Given the description of an element on the screen output the (x, y) to click on. 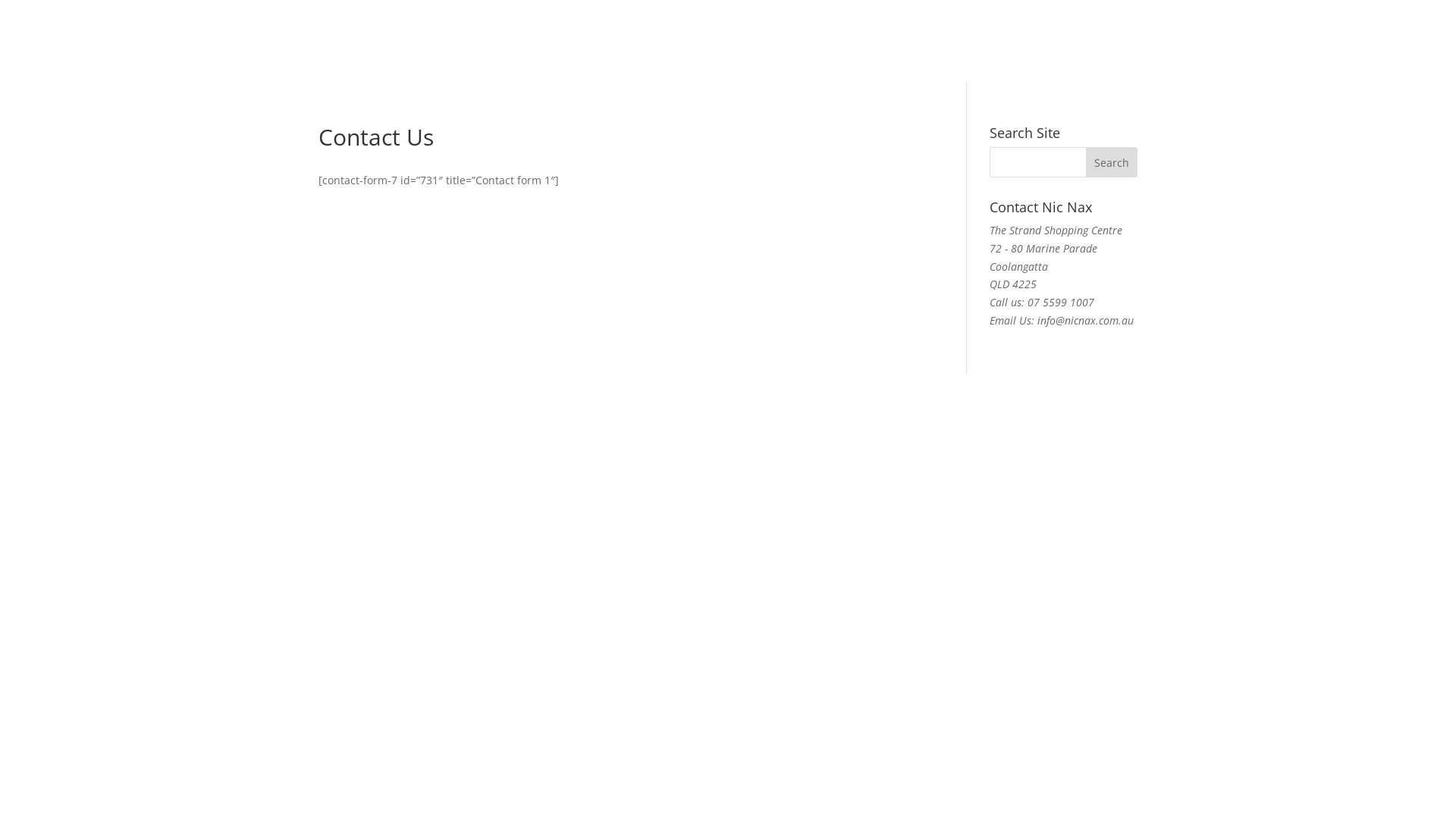
07 5599 1007 Element type: text (1060, 301)
info@nicnax.com.au Element type: text (1085, 320)
Search Element type: text (1111, 162)
